Given the description of an element on the screen output the (x, y) to click on. 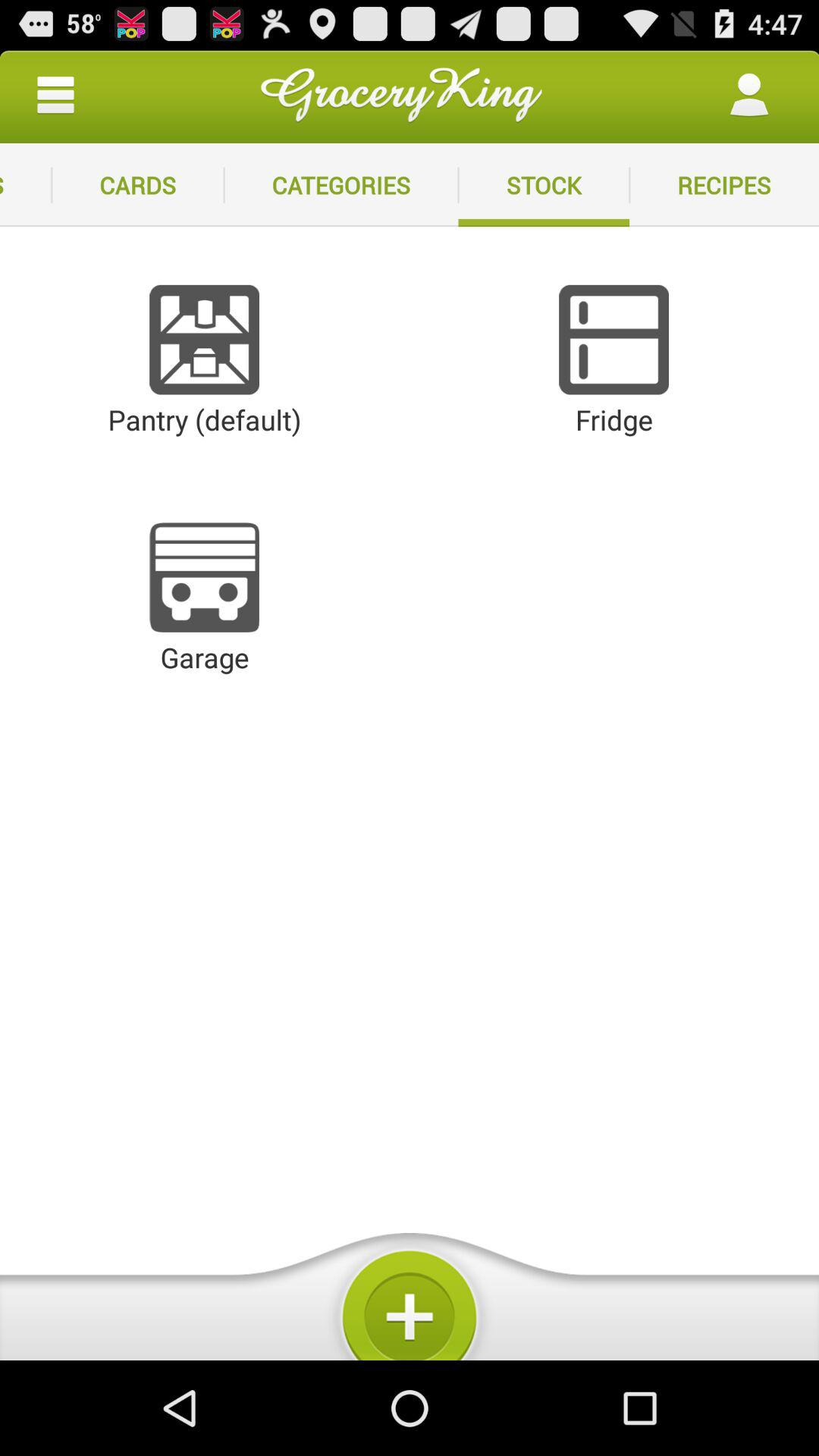
turn on the item next to the stock app (341, 184)
